Given the description of an element on the screen output the (x, y) to click on. 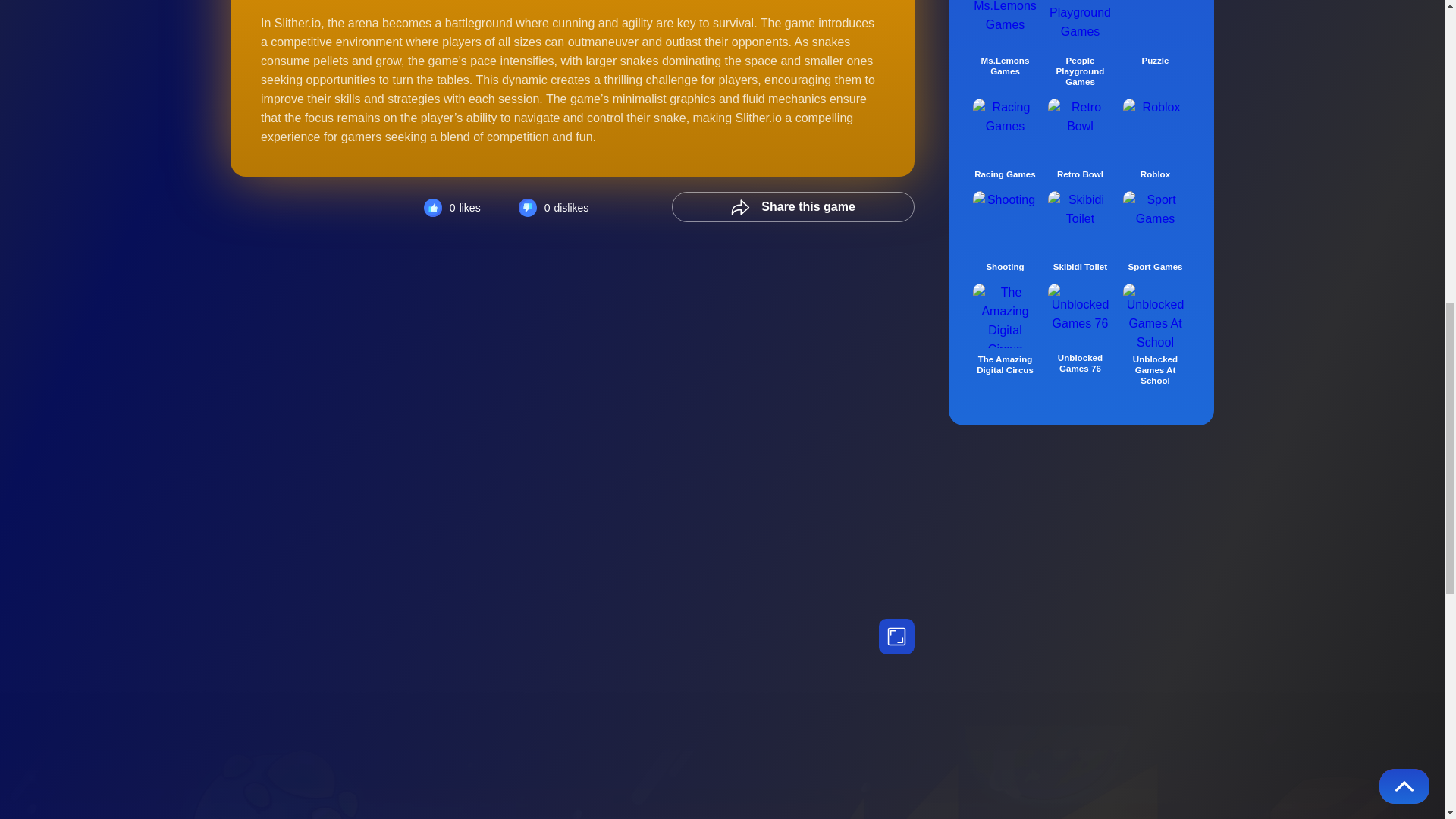
0 (452, 208)
0 (552, 208)
Share this game (792, 206)
